Given the description of an element on the screen output the (x, y) to click on. 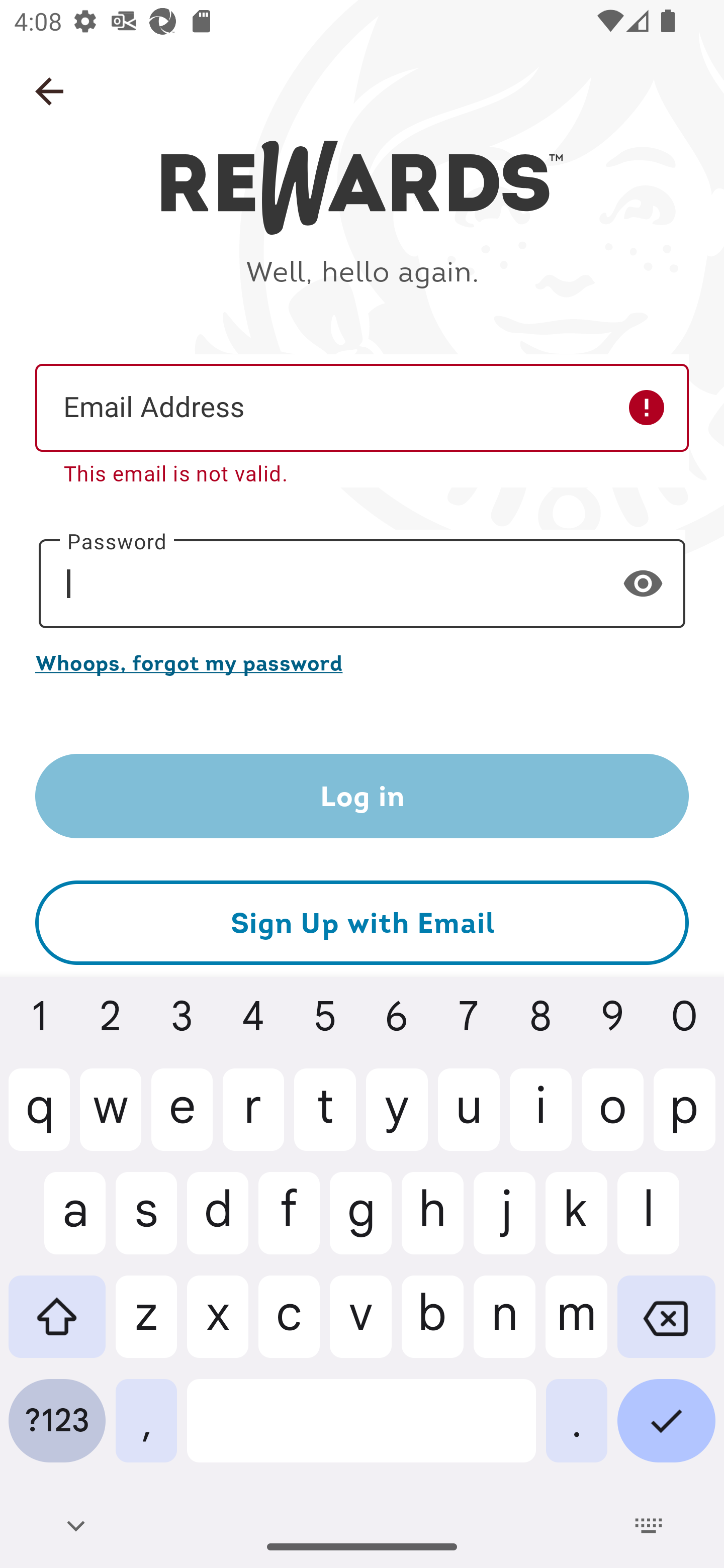
Navigate up (49, 91)
Email Address (361, 407)
Password (361, 583)
Show password (642, 582)
Whoops, forgot my password (361, 662)
Log in (361, 796)
Sign Up with Email (361, 922)
